Given the description of an element on the screen output the (x, y) to click on. 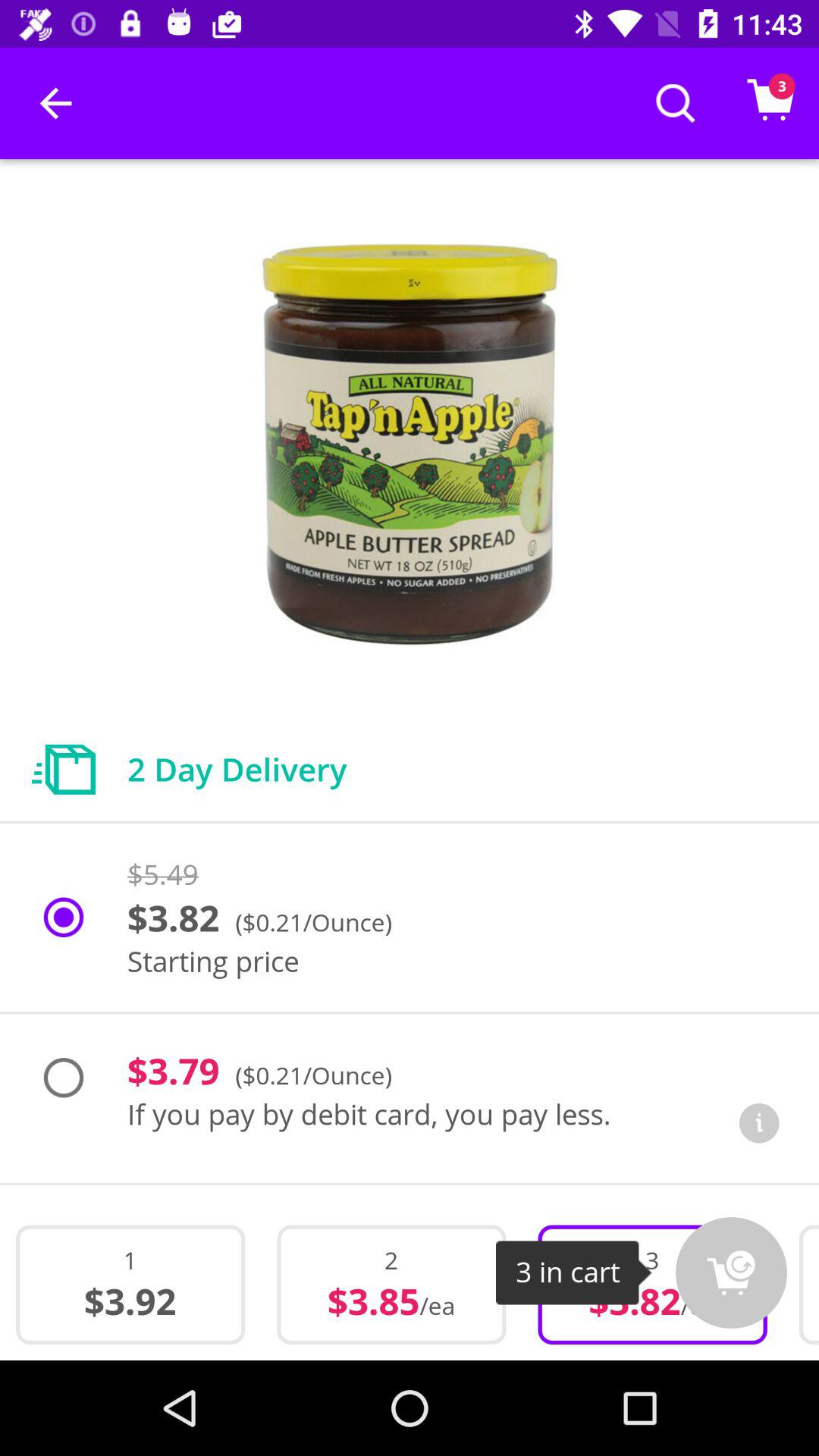
information (759, 1123)
